Given the description of an element on the screen output the (x, y) to click on. 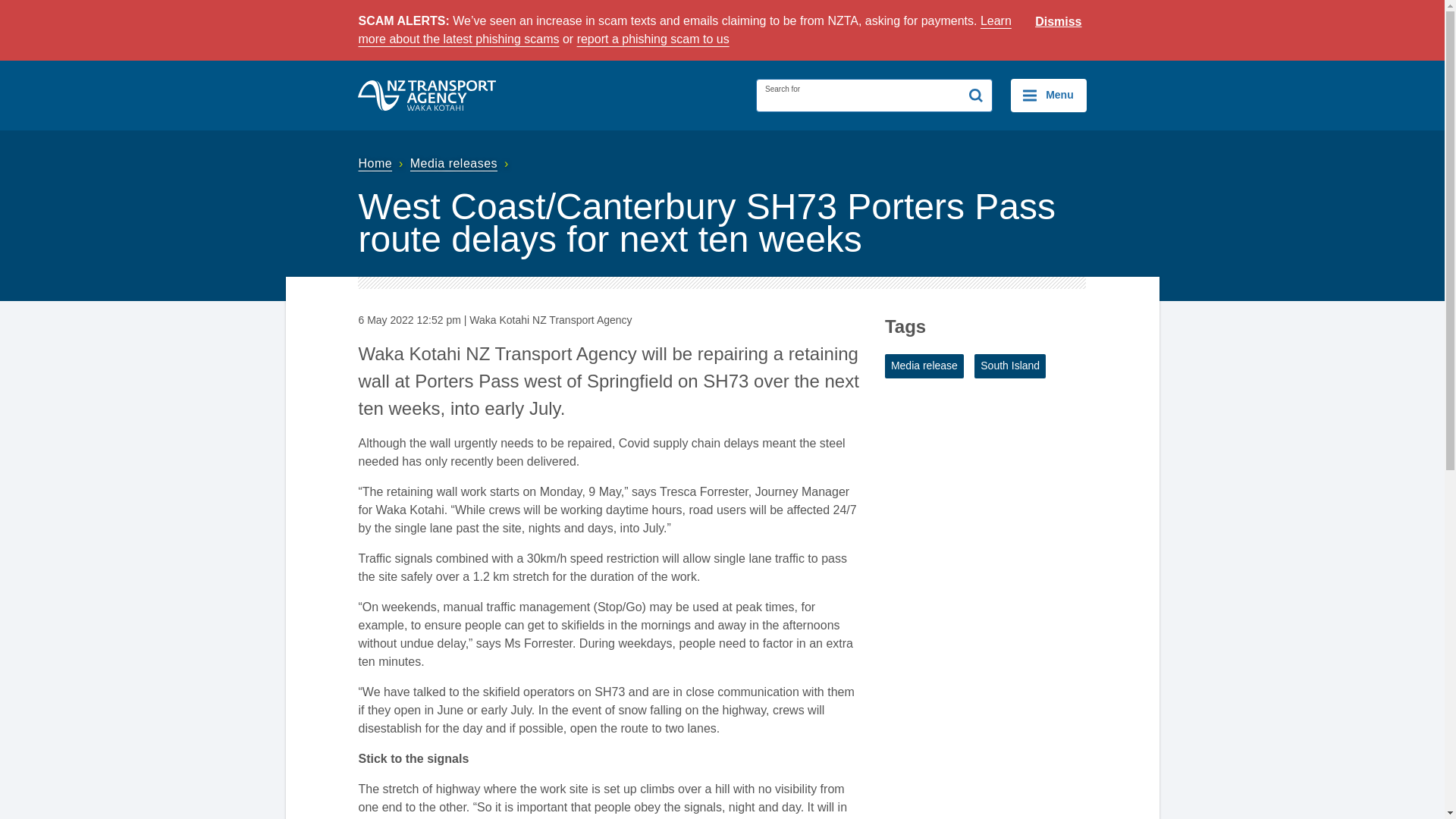
Menu (1048, 95)
report a phishing scam to us (652, 38)
View all posts tagged 'Media release' (924, 365)
Media releases (461, 163)
NZ Transport Agency Waka Kotahi (427, 95)
Home (382, 163)
View all posts tagged 'South Island' (1009, 365)
Learn more about the latest phishing scams (684, 29)
Dismiss (1058, 21)
